Given the description of an element on the screen output the (x, y) to click on. 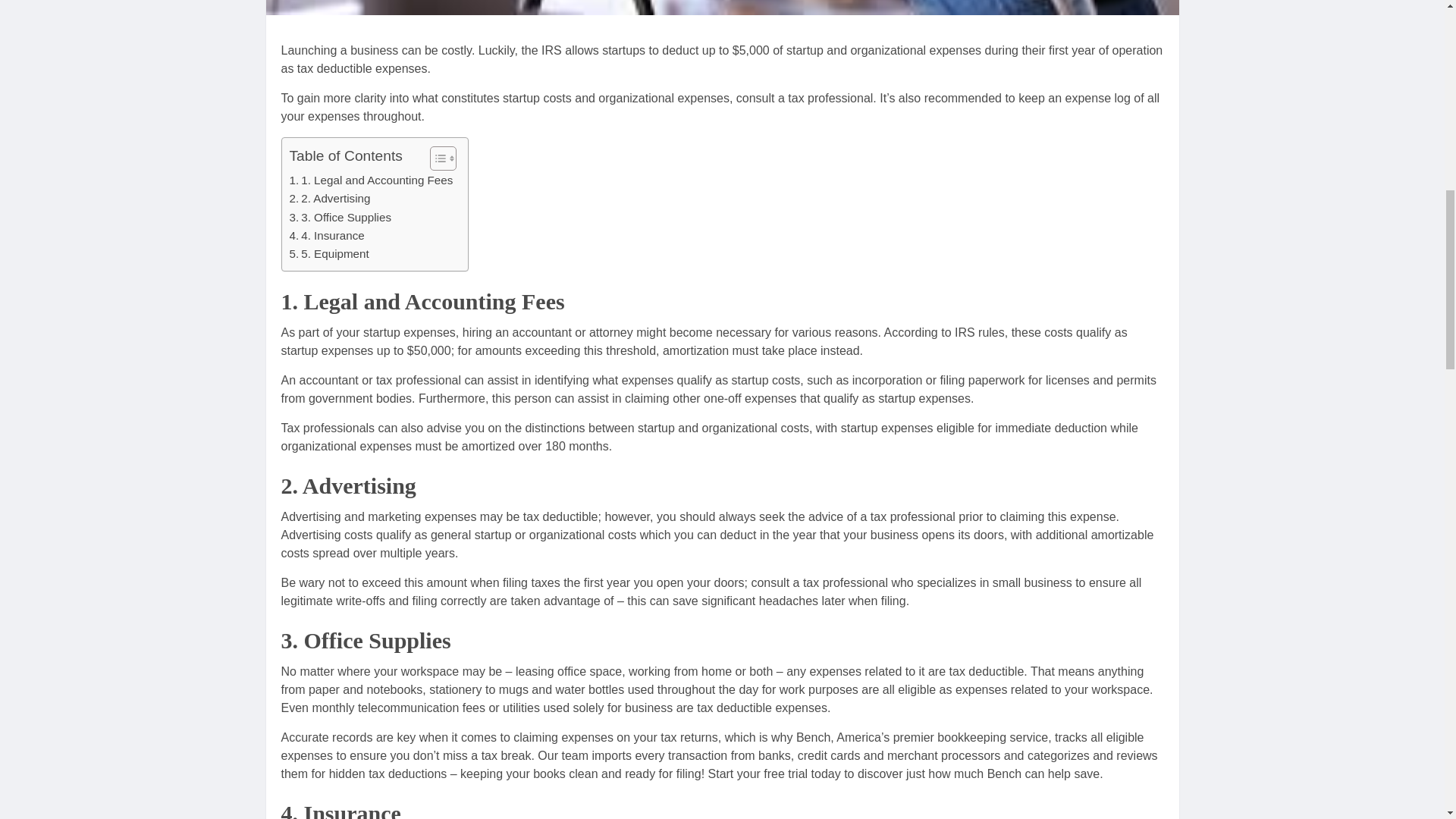
1. Legal and Accounting Fees (370, 180)
1. Legal and Accounting Fees (370, 180)
3. Office Supplies (340, 217)
2. Advertising (330, 198)
5. Equipment (329, 253)
4. Insurance (327, 235)
3. Office Supplies (340, 217)
5. Equipment (329, 253)
4. Insurance (327, 235)
2. Advertising (330, 198)
